Given the description of an element on the screen output the (x, y) to click on. 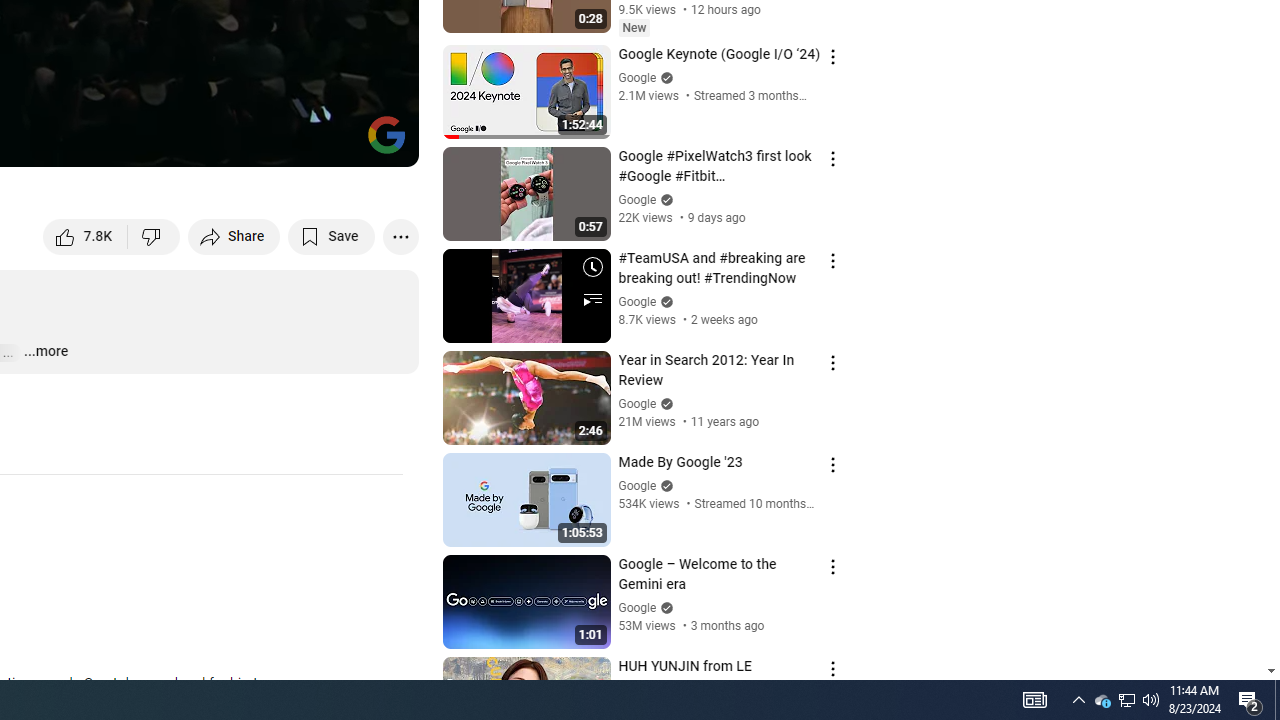
...more (45, 352)
Channel watermark (386, 134)
Autoplay is on (141, 142)
Full screen (f) (382, 142)
Action menu (832, 668)
like this video along with 7,829 other people (86, 236)
Dislike this video (154, 236)
Save to playlist (331, 236)
New (634, 27)
